Given the description of an element on the screen output the (x, y) to click on. 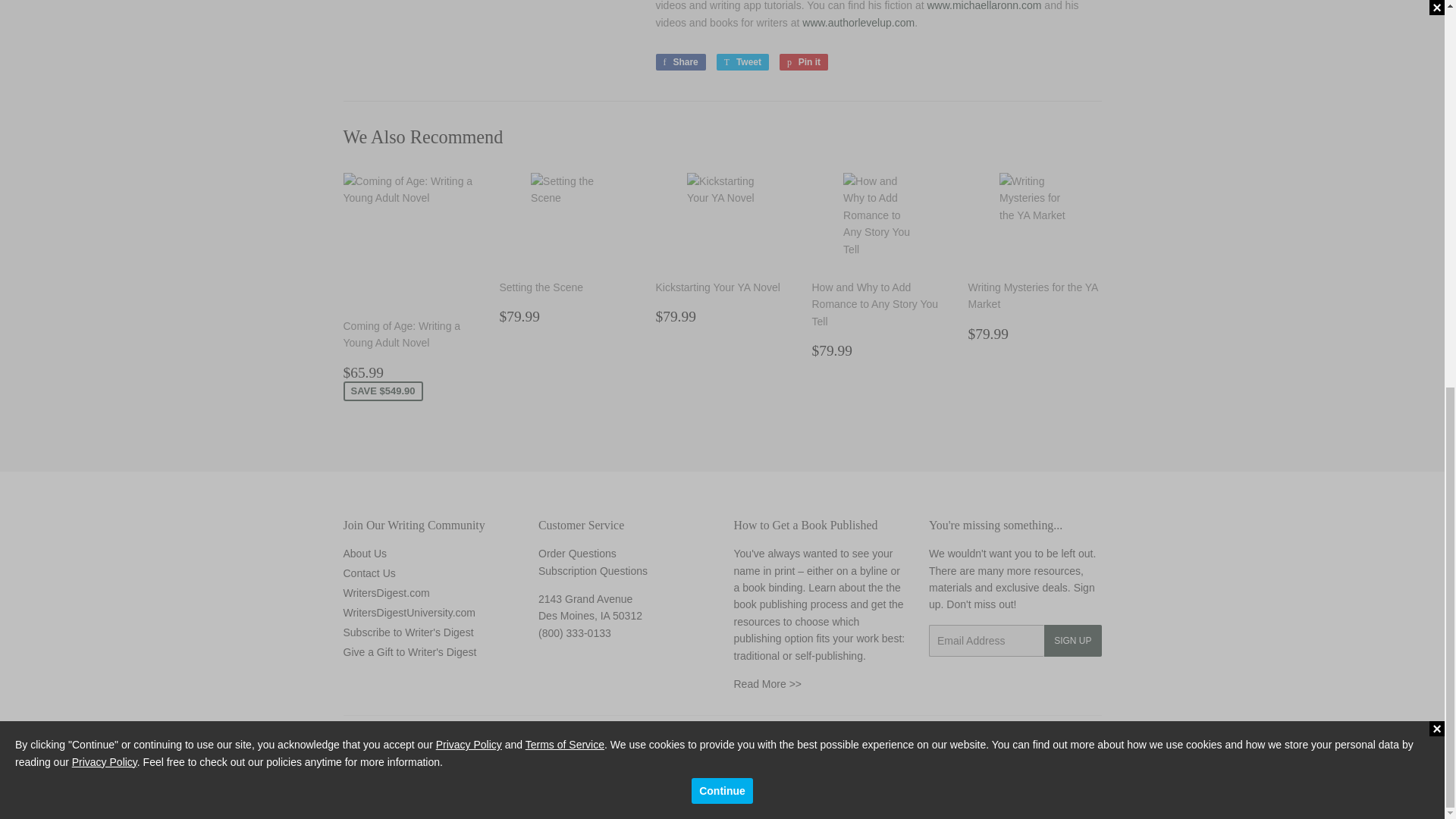
Mastercard (1046, 794)
Magazine Self Service (592, 571)
Customer Service (574, 633)
American Express (966, 794)
Pin on Pinterest (803, 62)
Tweet on Twitter (742, 62)
Discover (1005, 794)
Contact Us (576, 553)
Visa (1085, 794)
Share on Facebook (679, 62)
